Given the description of an element on the screen output the (x, y) to click on. 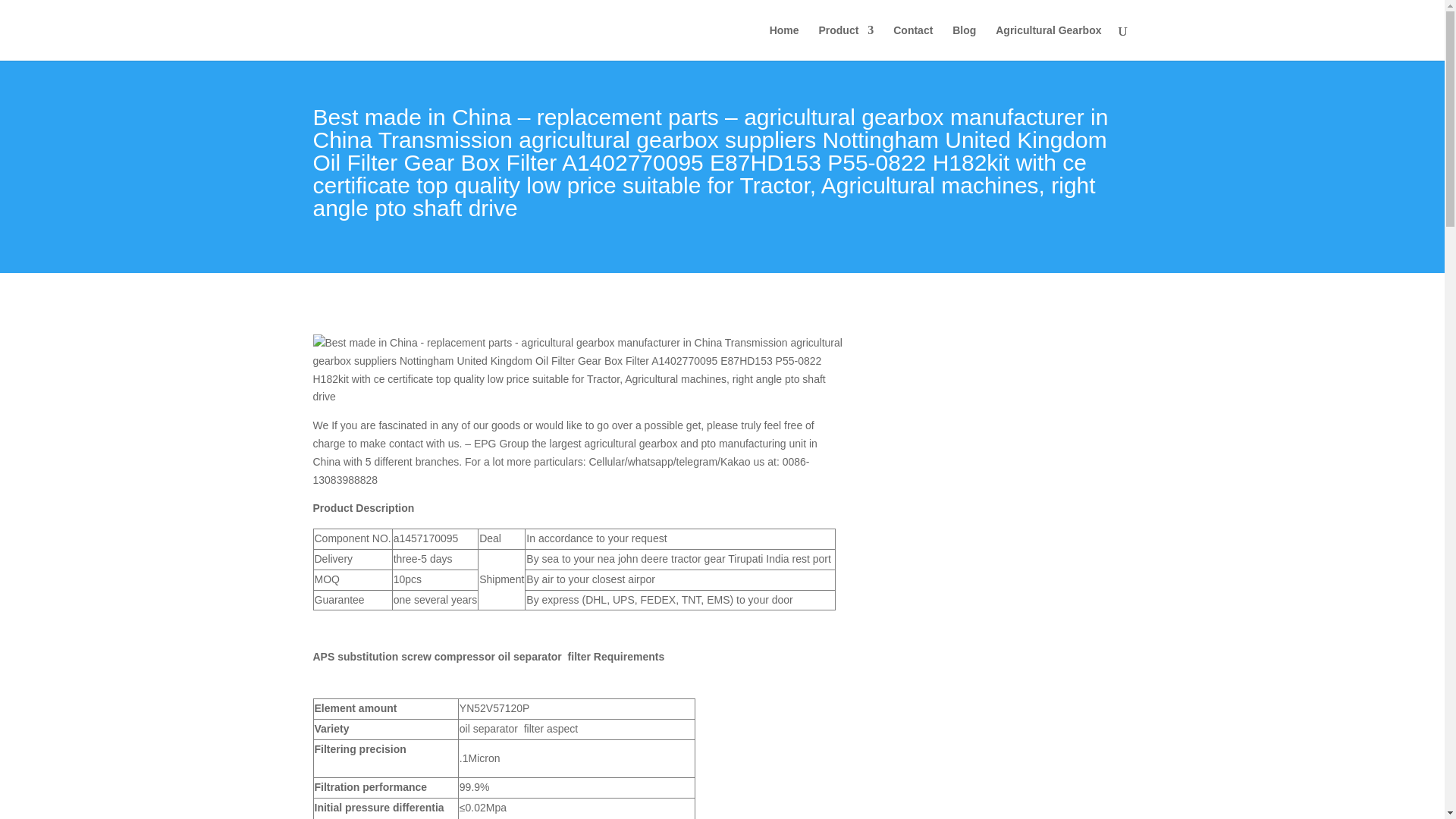
Contact (913, 42)
Agricultural Gearbox (1047, 42)
Product (845, 42)
